Given the description of an element on the screen output the (x, y) to click on. 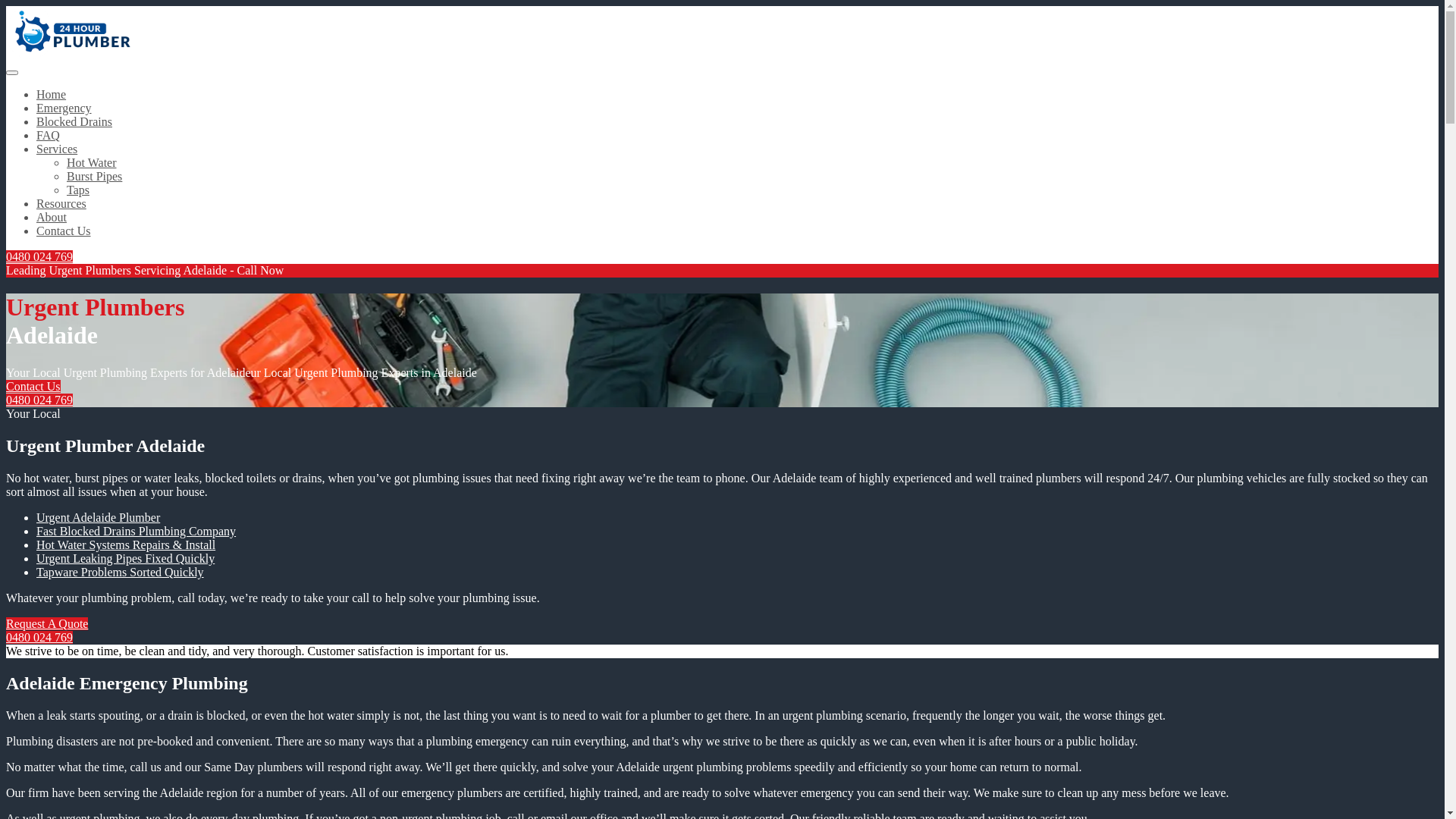
Contact Us Element type: text (63, 230)
Services Element type: text (56, 148)
Hot Water Element type: text (91, 162)
0480 024 769 Element type: text (39, 256)
Emergency Element type: text (63, 107)
Burst Pipes Element type: text (94, 175)
Fast Blocked Drains Plumbing Company Element type: text (135, 530)
Hot Water Systems Repairs & Install Element type: text (125, 544)
FAQ Element type: text (47, 134)
Urgent Leaking Pipes Fixed Quickly Element type: text (125, 558)
24 Hour Plumber Element type: hover (68, 54)
Home Element type: text (50, 93)
Contact Us Element type: text (33, 385)
Tapware Problems Sorted Quickly Element type: text (119, 571)
Blocked Drains Element type: text (74, 121)
0480 024 769 Element type: text (39, 399)
About Element type: text (51, 216)
Taps Element type: text (77, 189)
Resources Element type: text (61, 203)
Request A Quote Element type: text (46, 623)
0480 024 769 Element type: text (39, 636)
Urgent Adelaide Plumber Element type: text (98, 517)
